Given the description of an element on the screen output the (x, y) to click on. 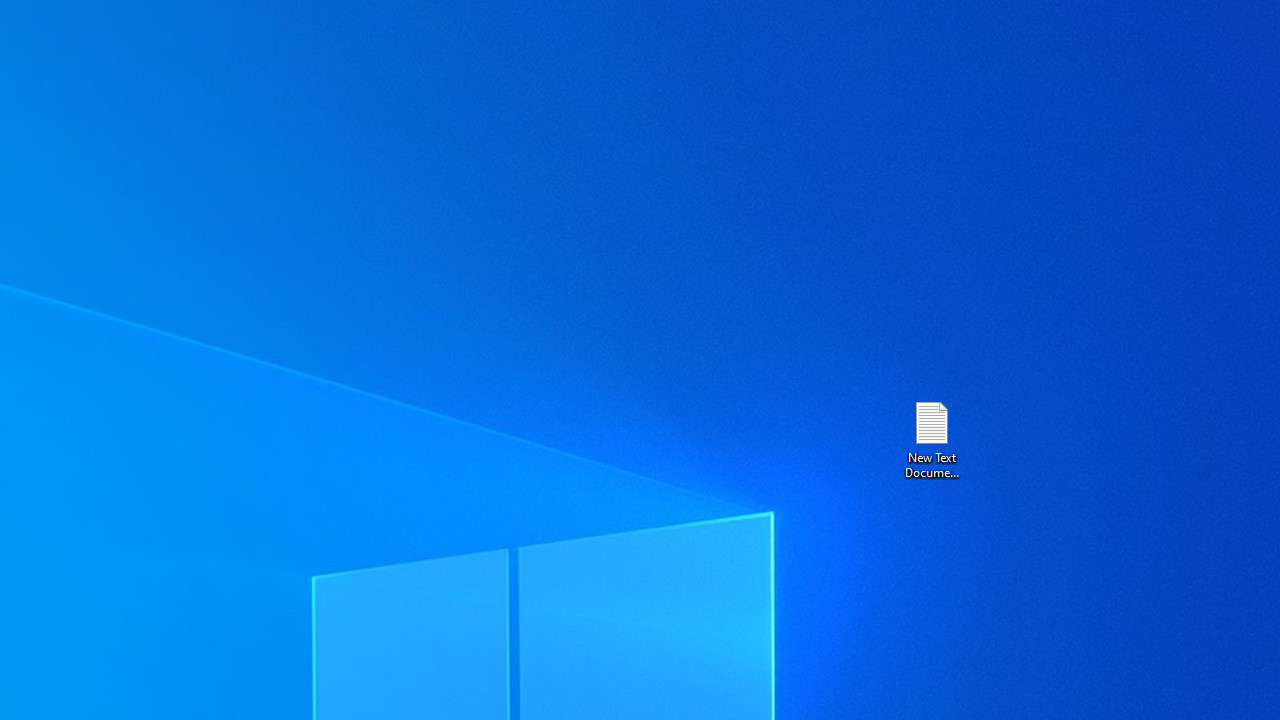
New Text Document (2) (931, 438)
